Given the description of an element on the screen output the (x, y) to click on. 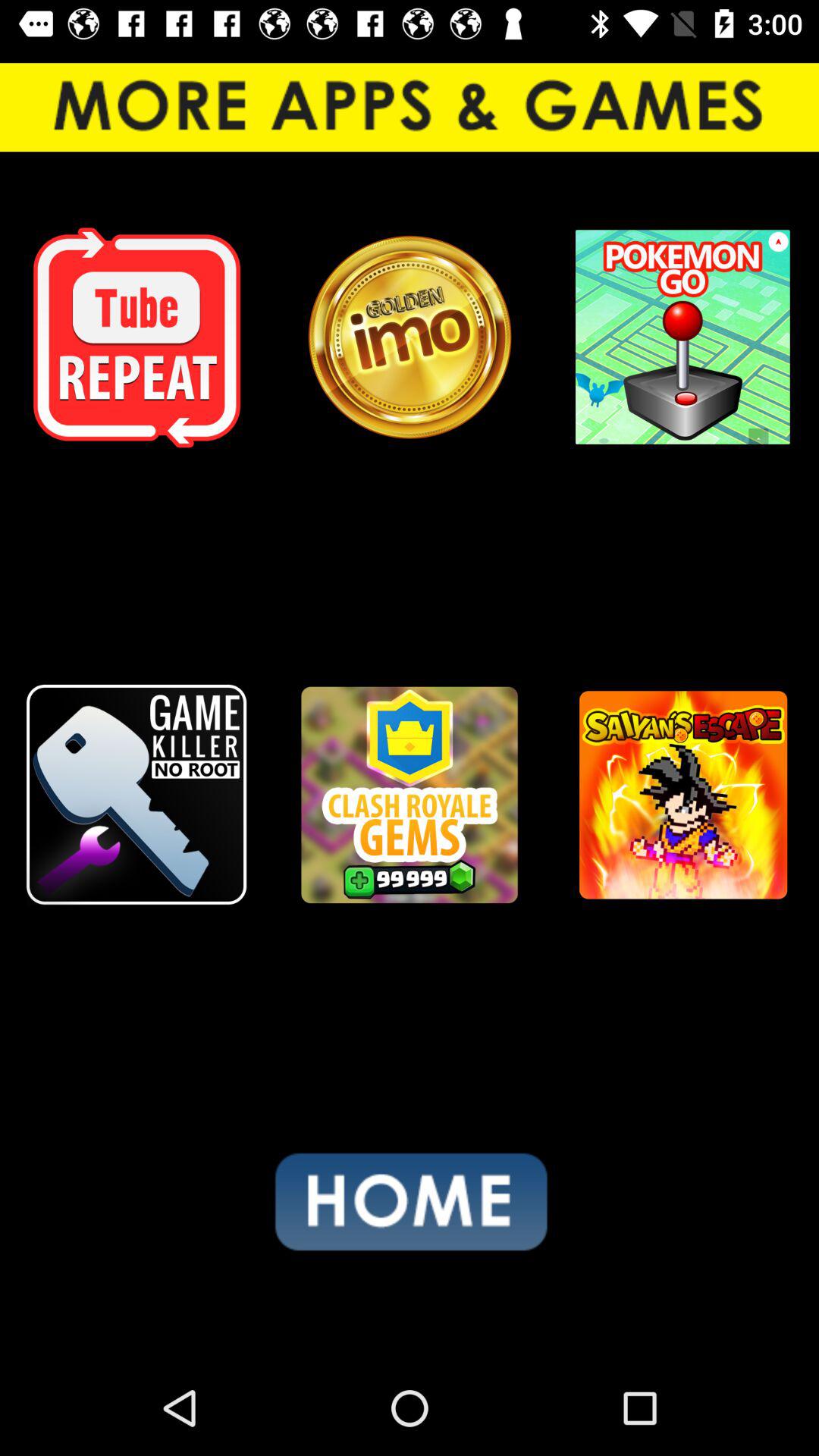
choose game (136, 794)
